Given the description of an element on the screen output the (x, y) to click on. 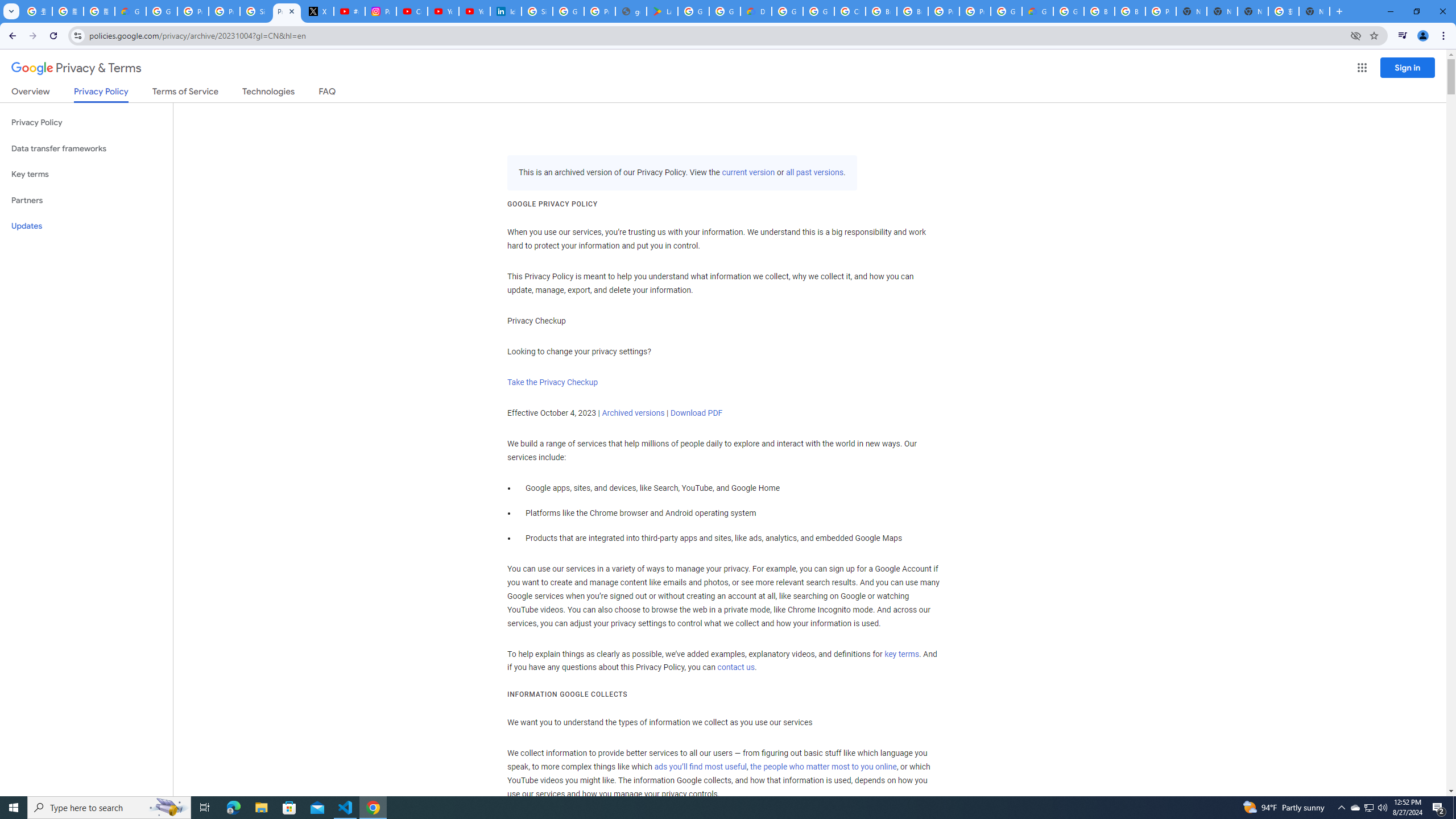
current version (748, 172)
Google Cloud Platform (1068, 11)
YouTube Culture & Trends - YouTube Top 10, 2021 (474, 11)
all past versions (813, 172)
Google Workspace - Specific Terms (724, 11)
